Given the description of an element on the screen output the (x, y) to click on. 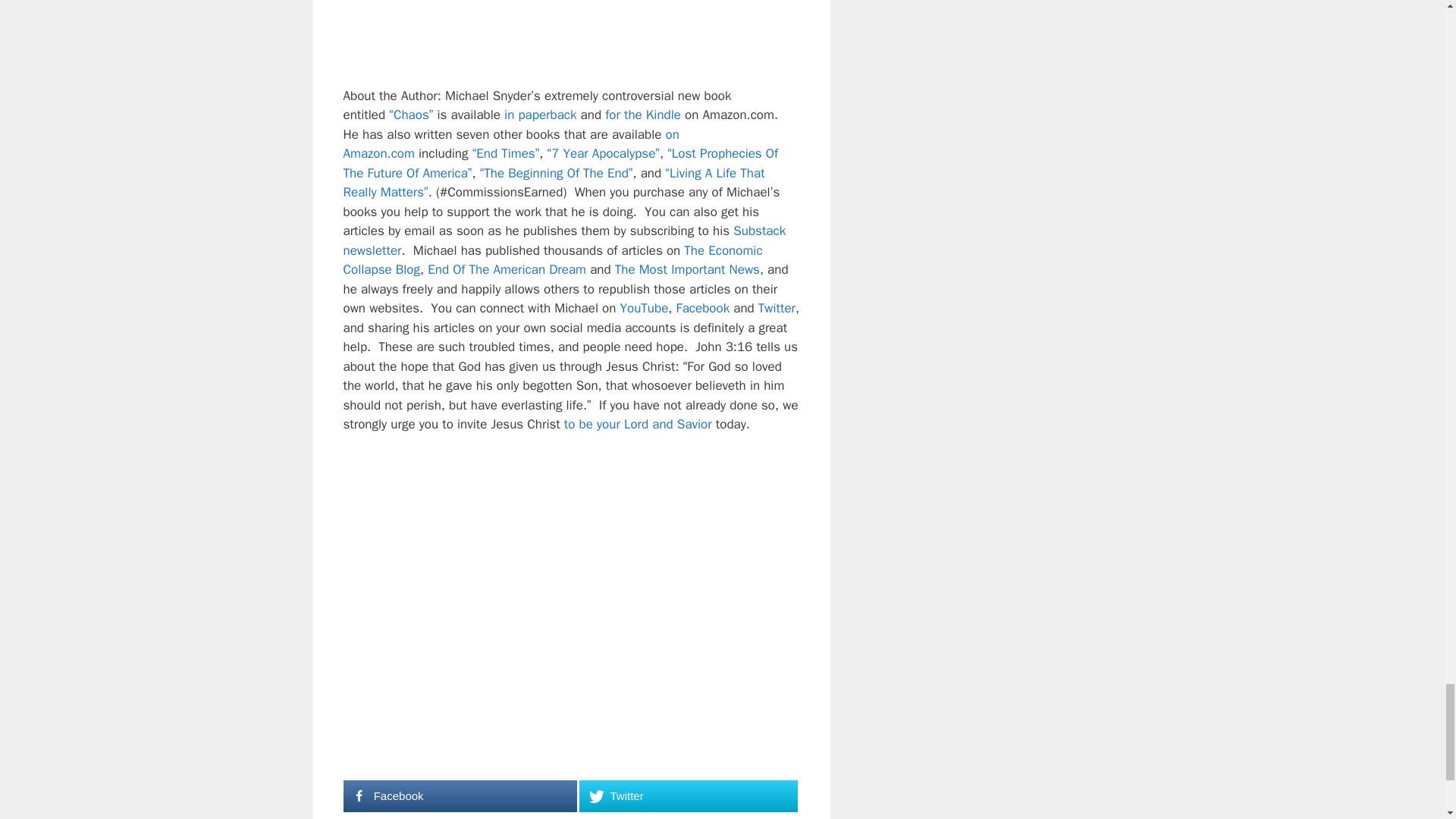
on Amazon.com (510, 144)
to be your Lord and Savior (637, 424)
The Most Important News (687, 269)
Twitter (776, 308)
Substack newsletter (564, 240)
in paperback (539, 114)
in paperback (539, 114)
The Beginning Of The End (556, 172)
The Economic Collapse Blog (551, 260)
Facebook (703, 308)
for the Kindle (643, 114)
End Of The American Dream (507, 269)
Twitter (687, 796)
on Amazon.com (510, 144)
for the Kindle (643, 114)
